Given the description of an element on the screen output the (x, y) to click on. 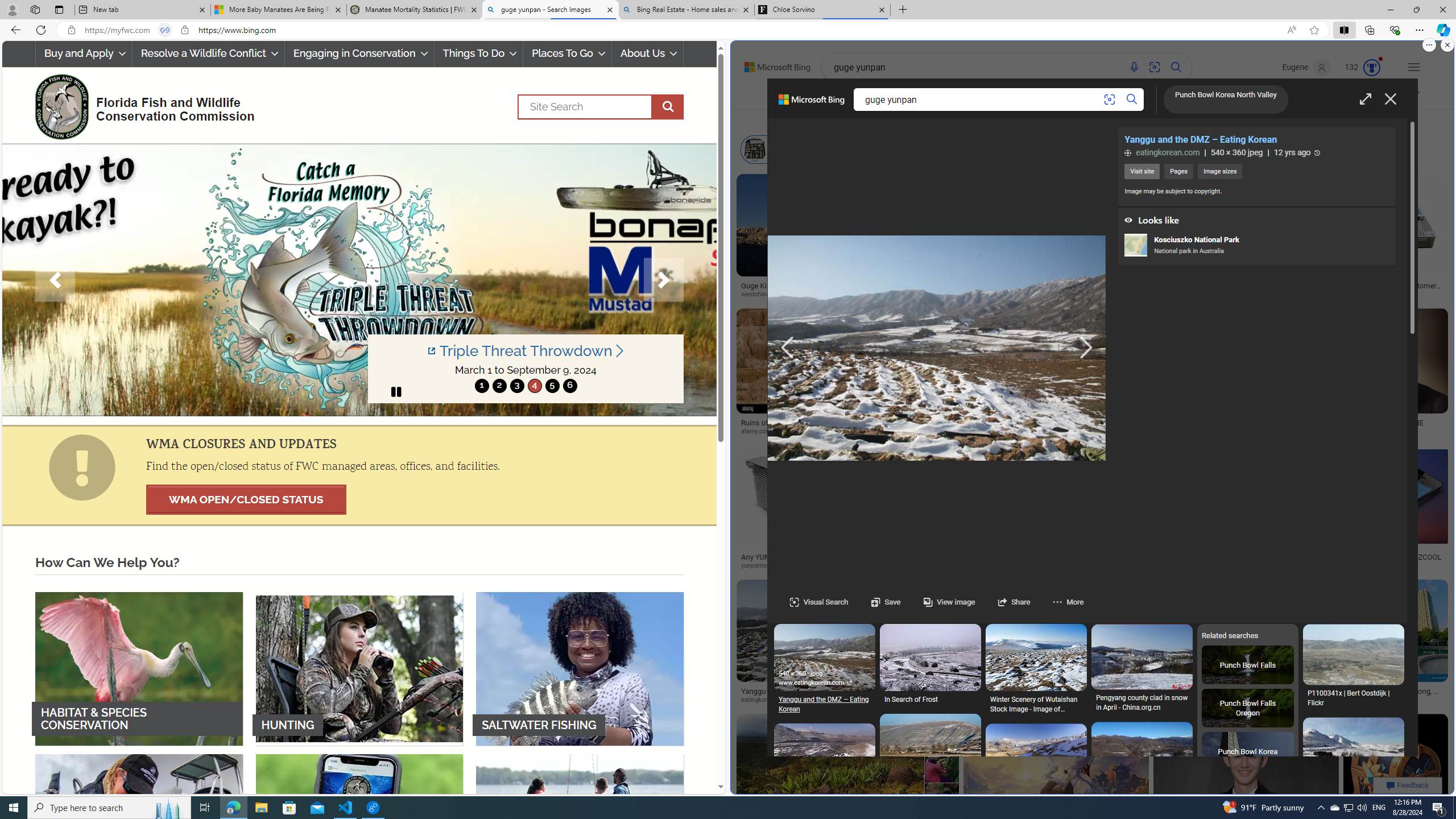
www.eatingkorean.com (814, 682)
Inspiration (999, 96)
move to slide 5 (551, 385)
GYUINGmarpple.shopSave (1243, 644)
vecteezy.com (896, 699)
Buy and Apply (83, 53)
